Given the description of an element on the screen output the (x, y) to click on. 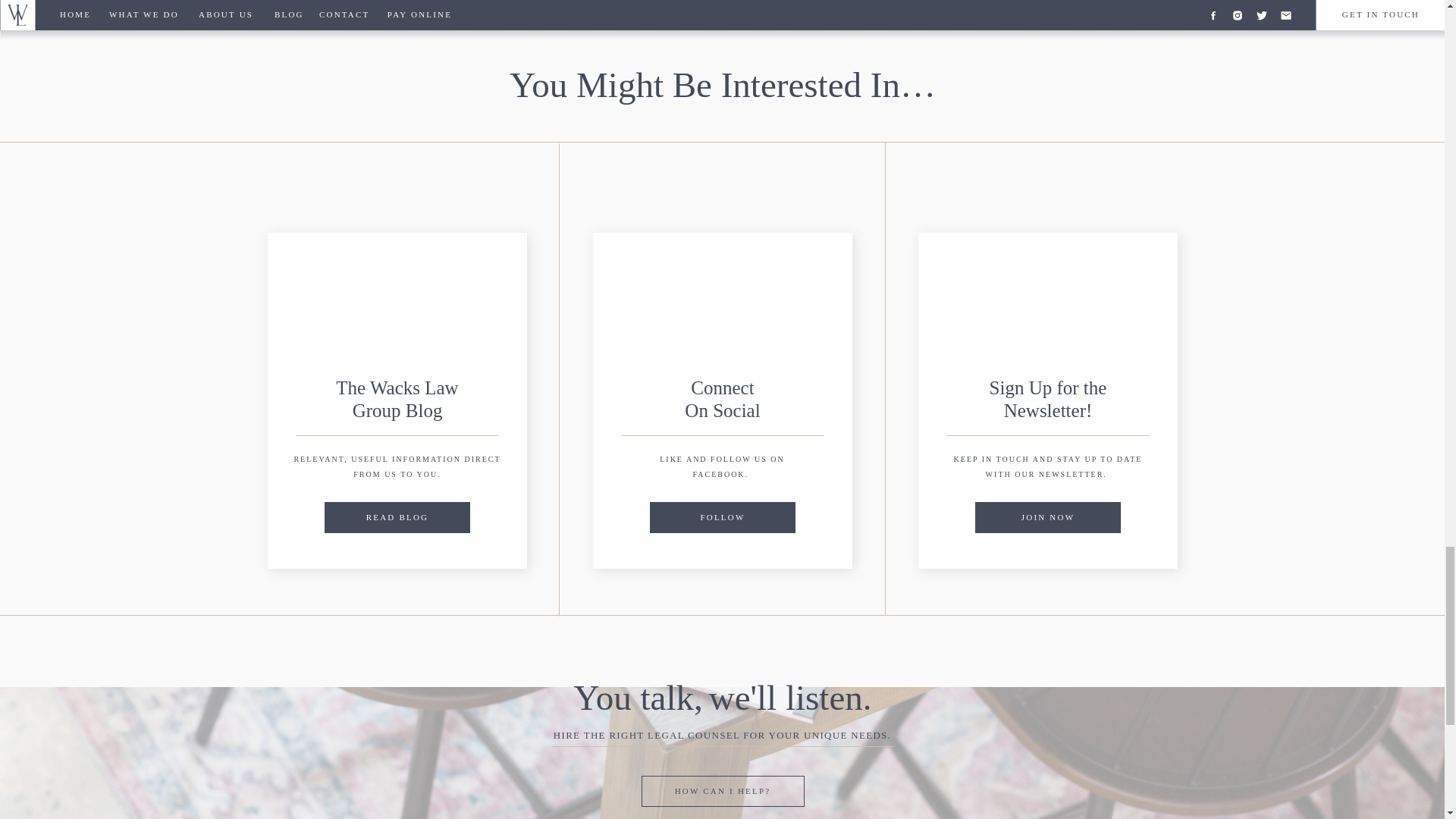
JOIN NOW (1047, 516)
HOW CAN I HELP? (723, 789)
FOLLOW (723, 516)
READ BLOG (397, 516)
